Given the description of an element on the screen output the (x, y) to click on. 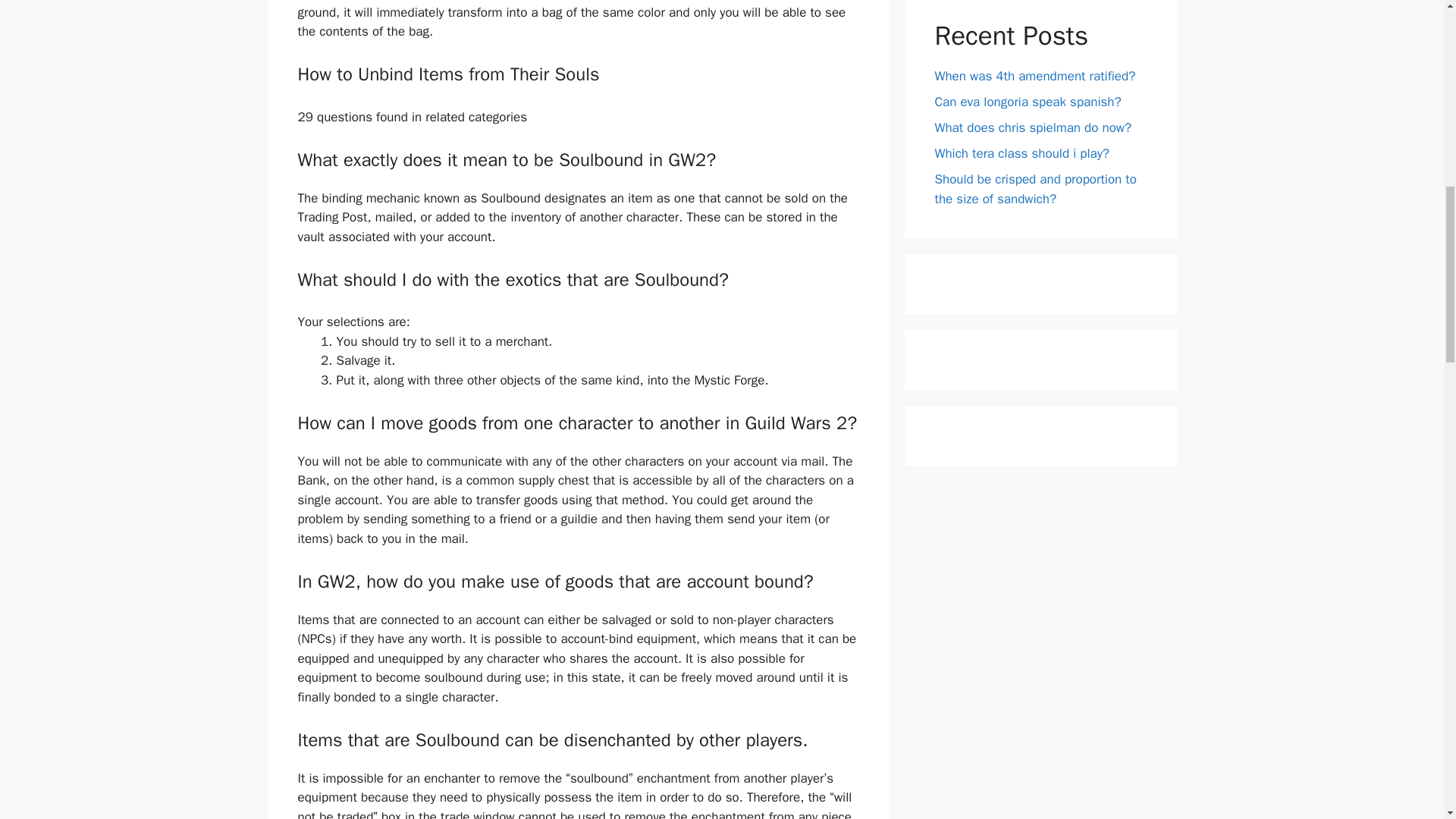
Can eva longoria speak spanish? (1027, 101)
Which tera class should i play? (1021, 153)
When was 4th amendment ratified? (1034, 75)
What does chris spielman do now? (1032, 127)
Should be crisped and proportion to the size of sandwich? (1034, 189)
